Given the description of an element on the screen output the (x, y) to click on. 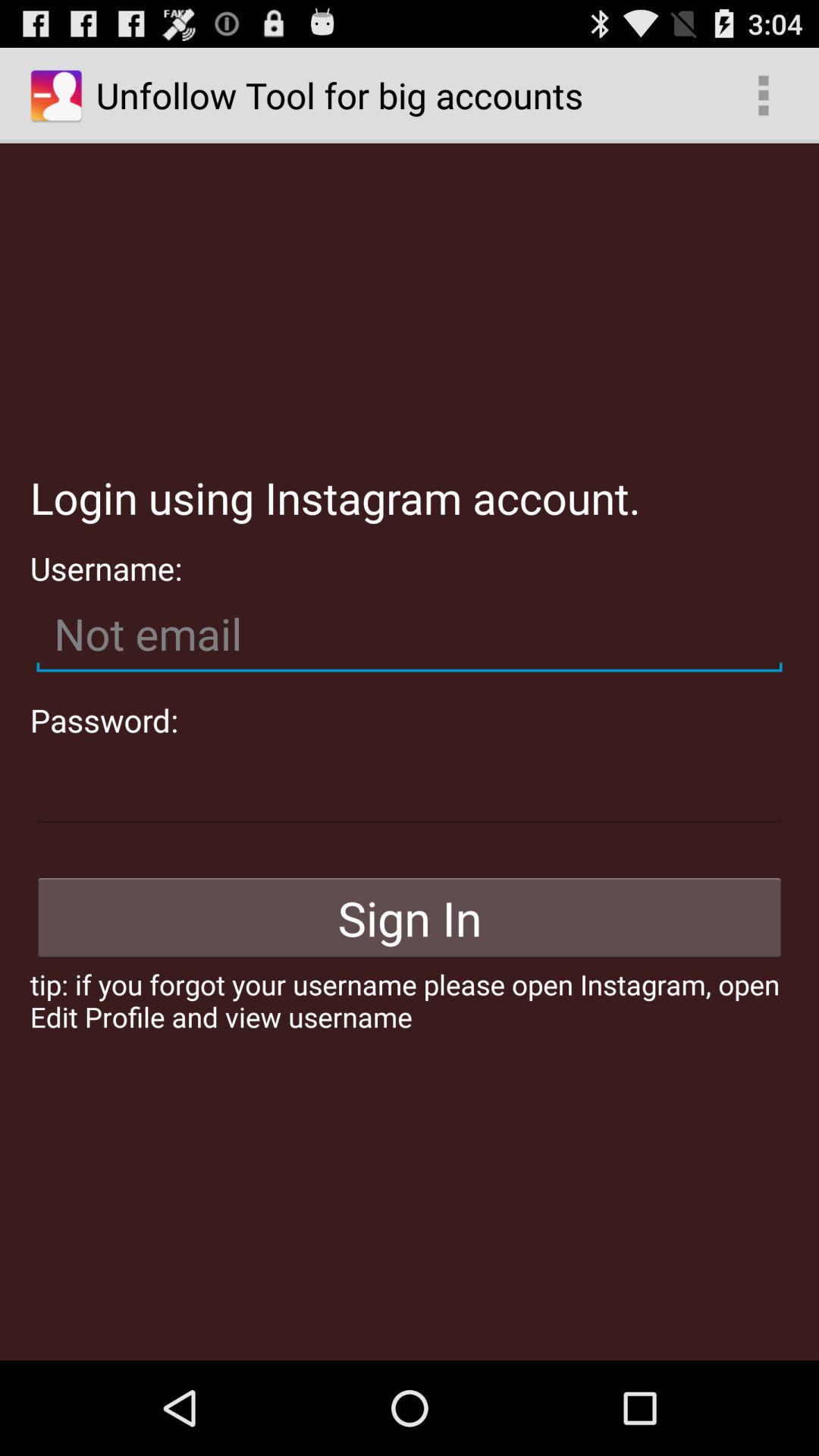
select icon above tip if you icon (409, 917)
